Given the description of an element on the screen output the (x, y) to click on. 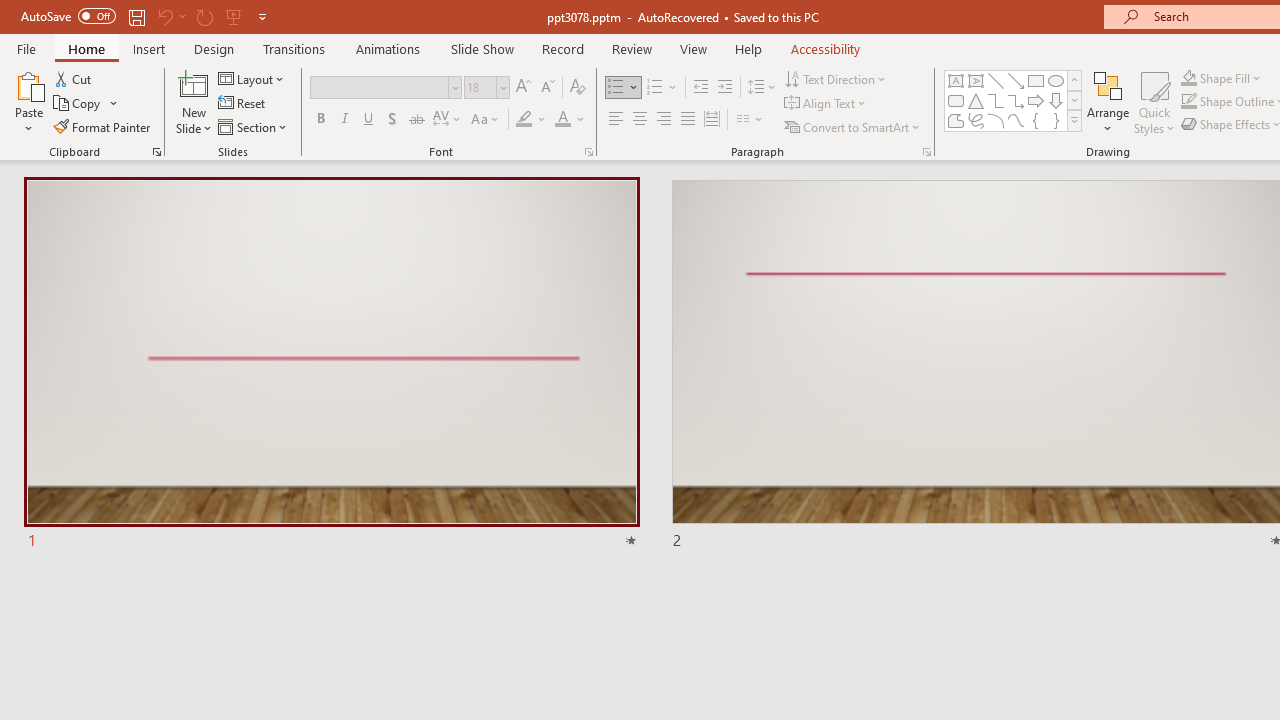
Shape Outline Green, Accent 1 (1188, 101)
